Given the description of an element on the screen output the (x, y) to click on. 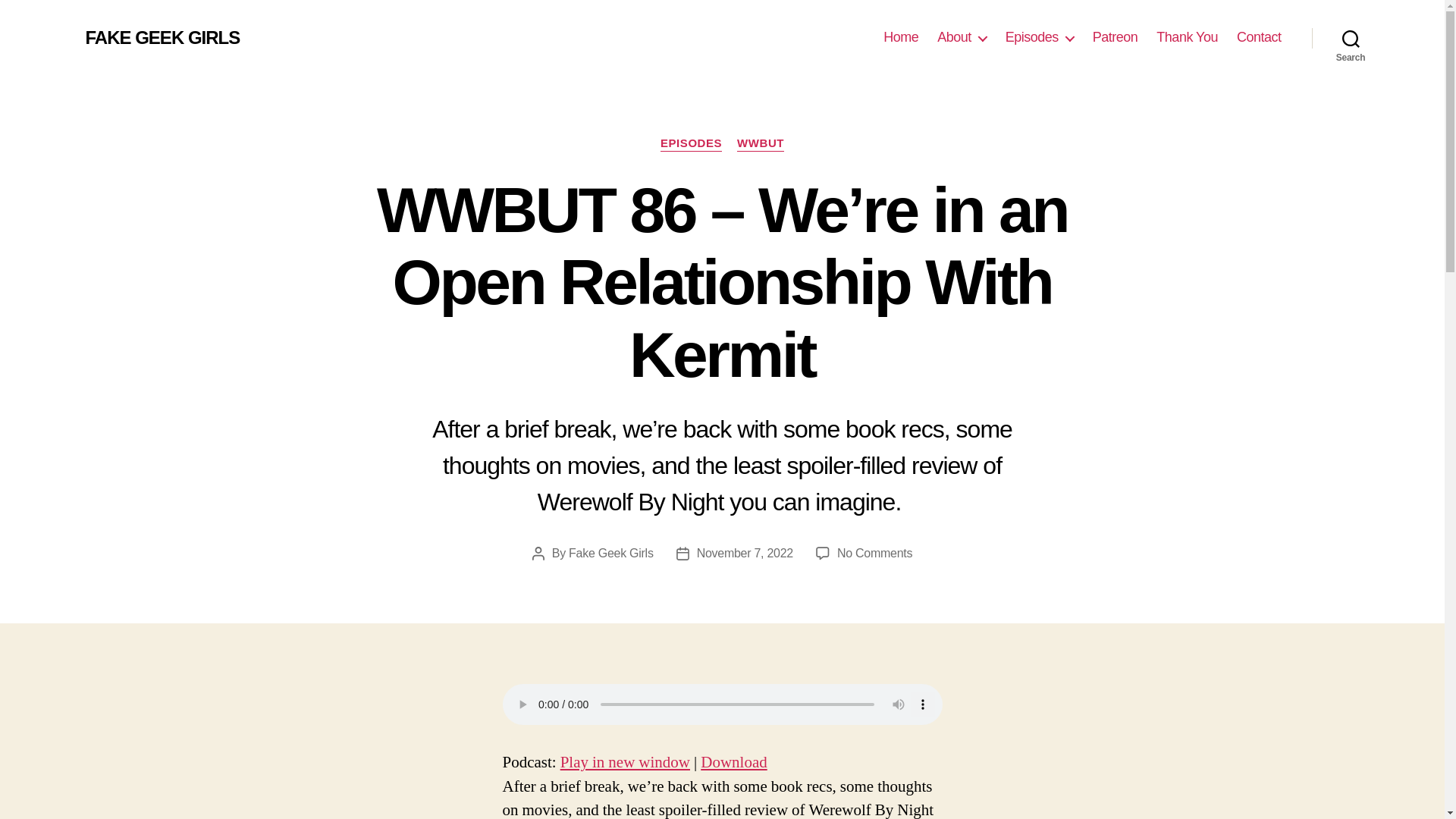
No Comments (874, 553)
Download (733, 762)
Play in new window (625, 762)
Contact (1258, 37)
Fake Geek Girls (611, 553)
Download (733, 762)
Search (1350, 37)
WWBUT (760, 143)
November 7, 2022 (745, 553)
Home (900, 37)
